Given the description of an element on the screen output the (x, y) to click on. 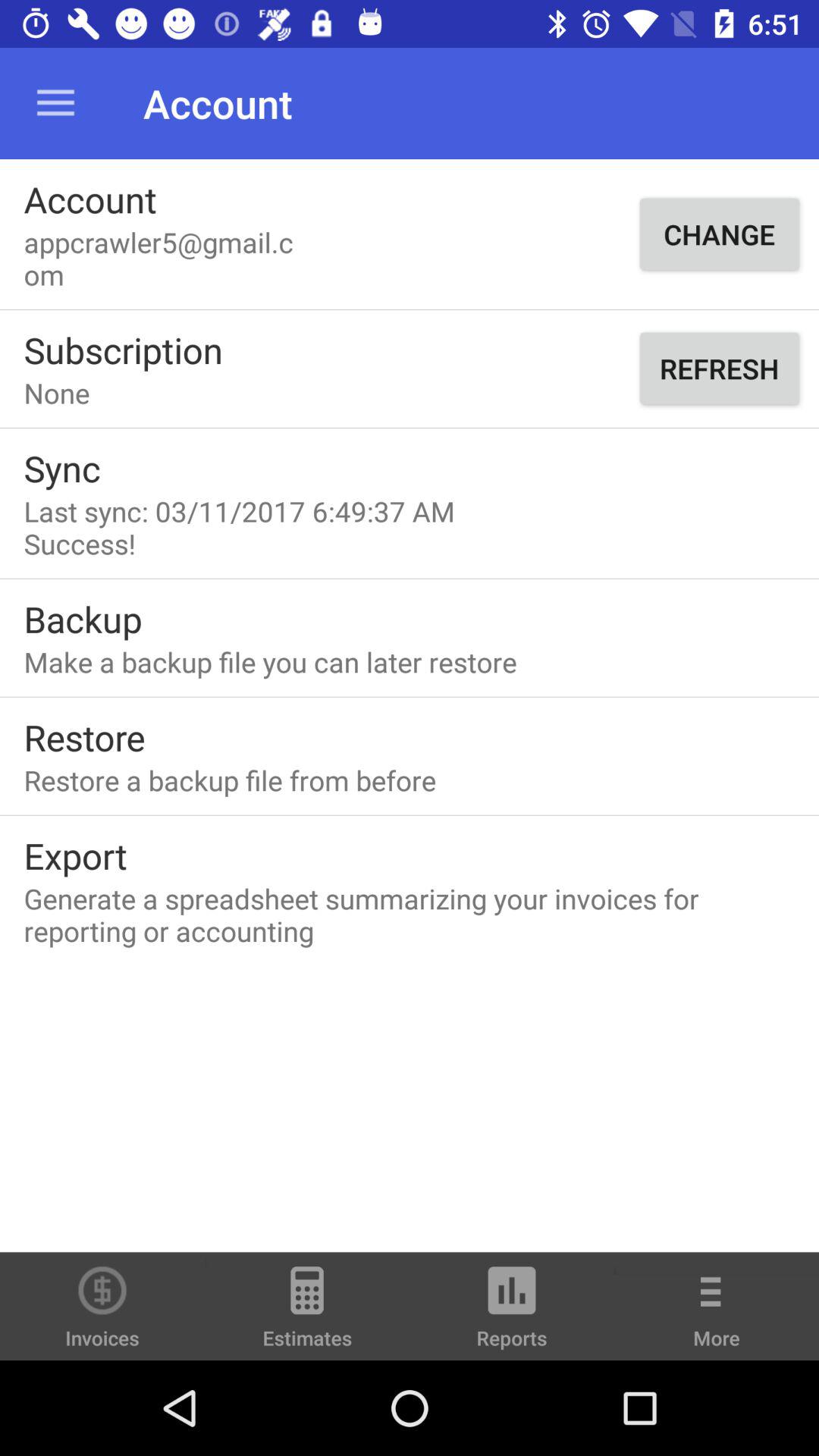
select the icon next to the reports (716, 1317)
